Given the description of an element on the screen output the (x, y) to click on. 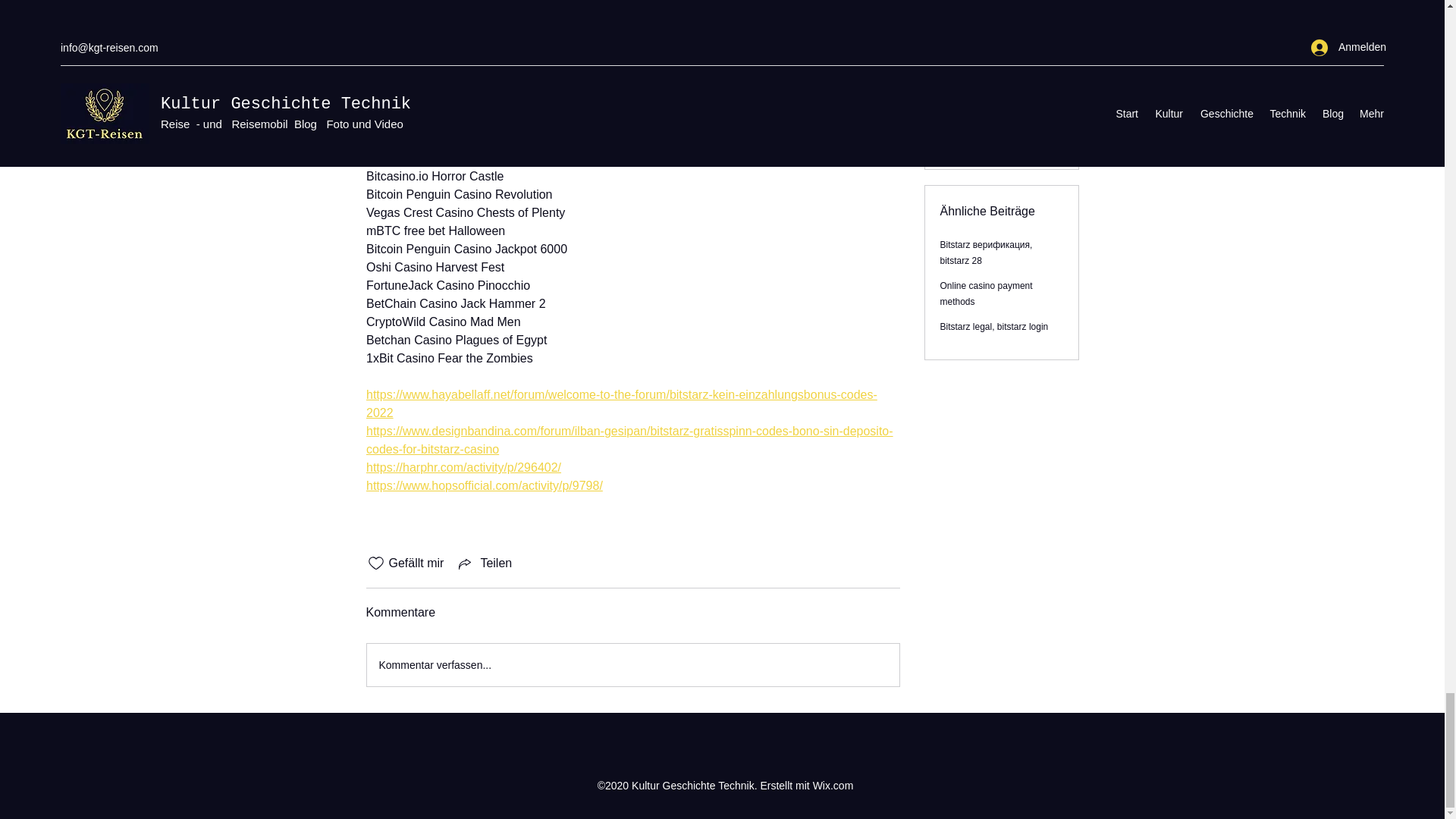
Kommentar verfassen... (632, 664)
Teilen (483, 563)
